Given the description of an element on the screen output the (x, y) to click on. 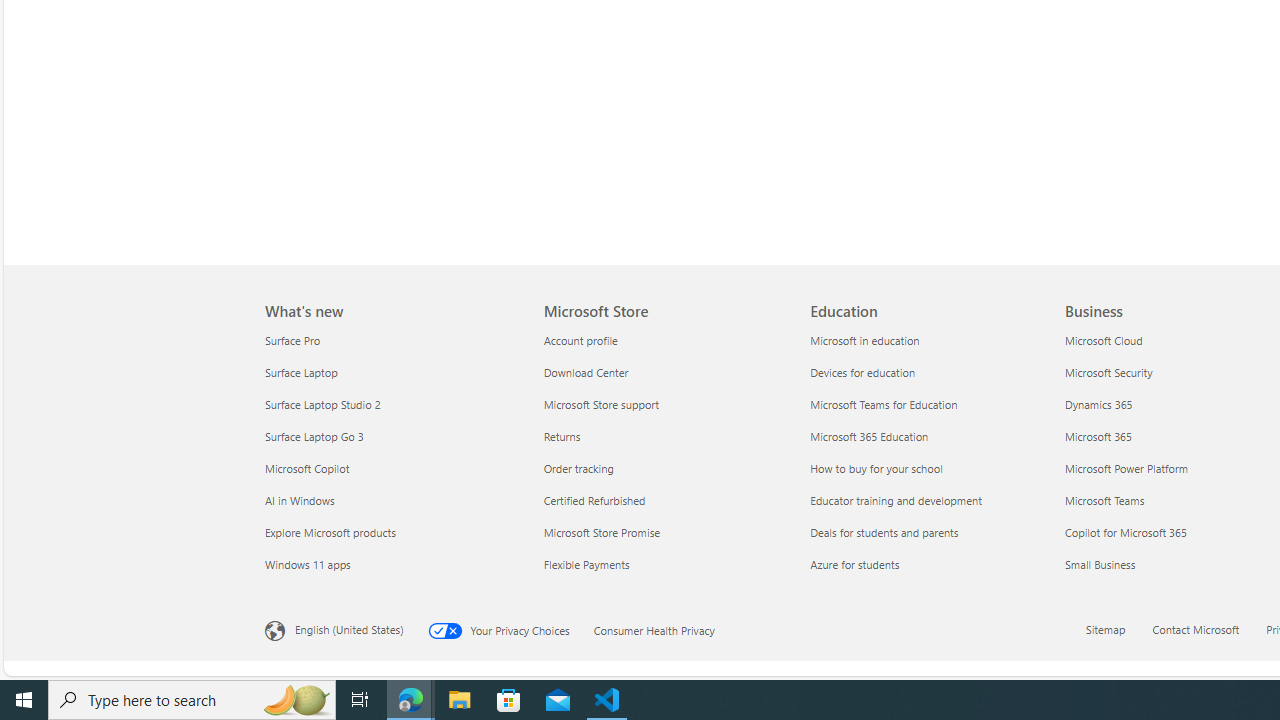
Azure for students Education (854, 563)
Microsoft Cloud Business (1103, 339)
Educator training and development (931, 499)
Microsoft Store support (664, 404)
Microsoft 365 Education (931, 435)
AI in Windows (391, 499)
Sitemap (1105, 628)
Windows 11 apps What's new (307, 563)
Microsoft in education Education (865, 339)
Explore Microsoft products What's new (329, 532)
Surface Laptop Go 3 What's new (313, 435)
Your Privacy Choices Opt-Out Icon (449, 630)
Microsoft Store Promise Microsoft Store (601, 532)
How to buy for your school Education (876, 467)
Devices for education (931, 371)
